Given the description of an element on the screen output the (x, y) to click on. 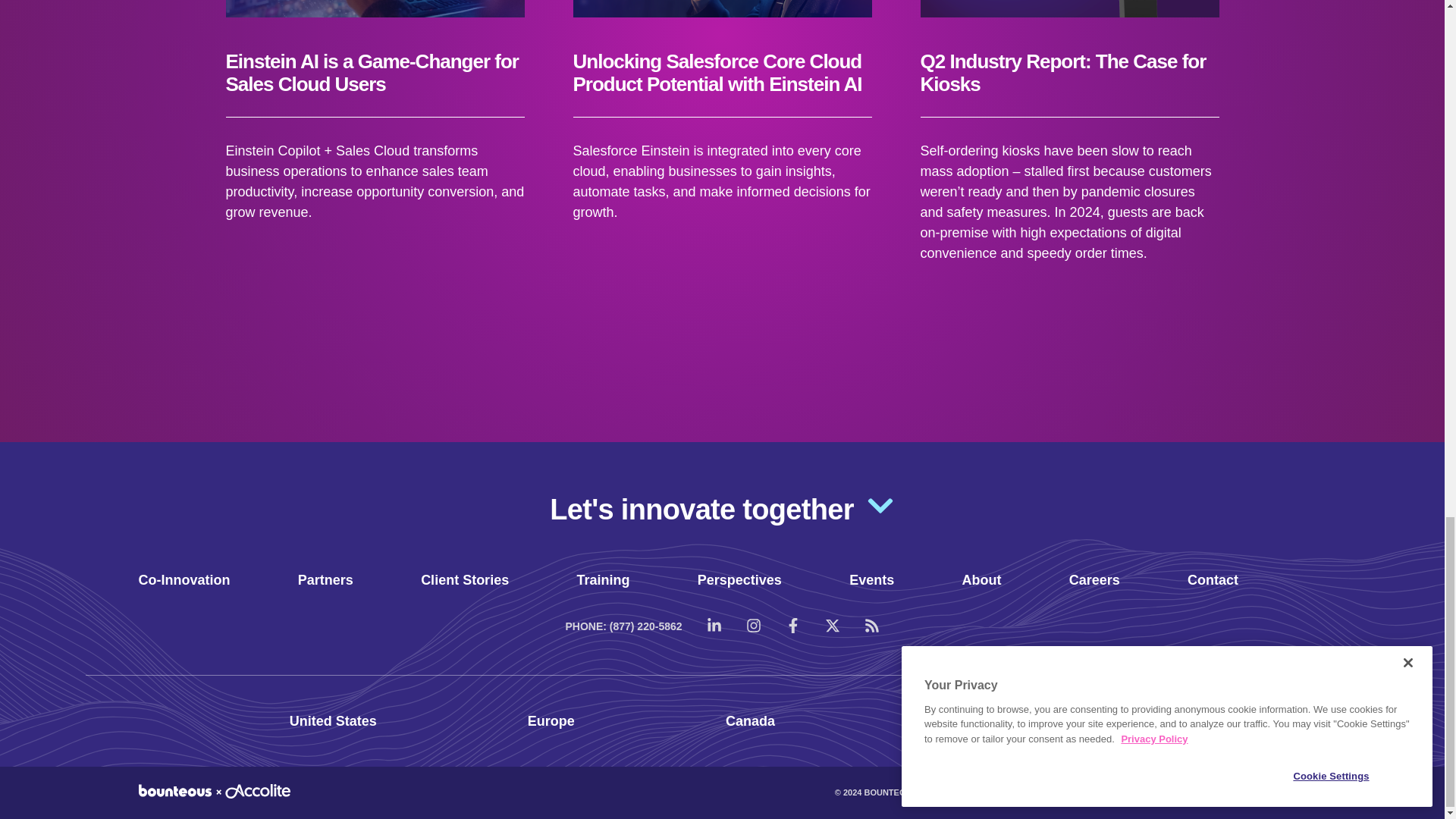
India (942, 720)
United States (333, 720)
Mexico (1131, 720)
Careers (1093, 580)
Client Stories (464, 580)
Training (602, 580)
Perspectives (739, 580)
Europe (551, 720)
Canada (749, 720)
Co-Innovation (184, 580)
Let's innovate together (721, 506)
Events (870, 580)
About (980, 580)
Partners (325, 580)
